Given the description of an element on the screen output the (x, y) to click on. 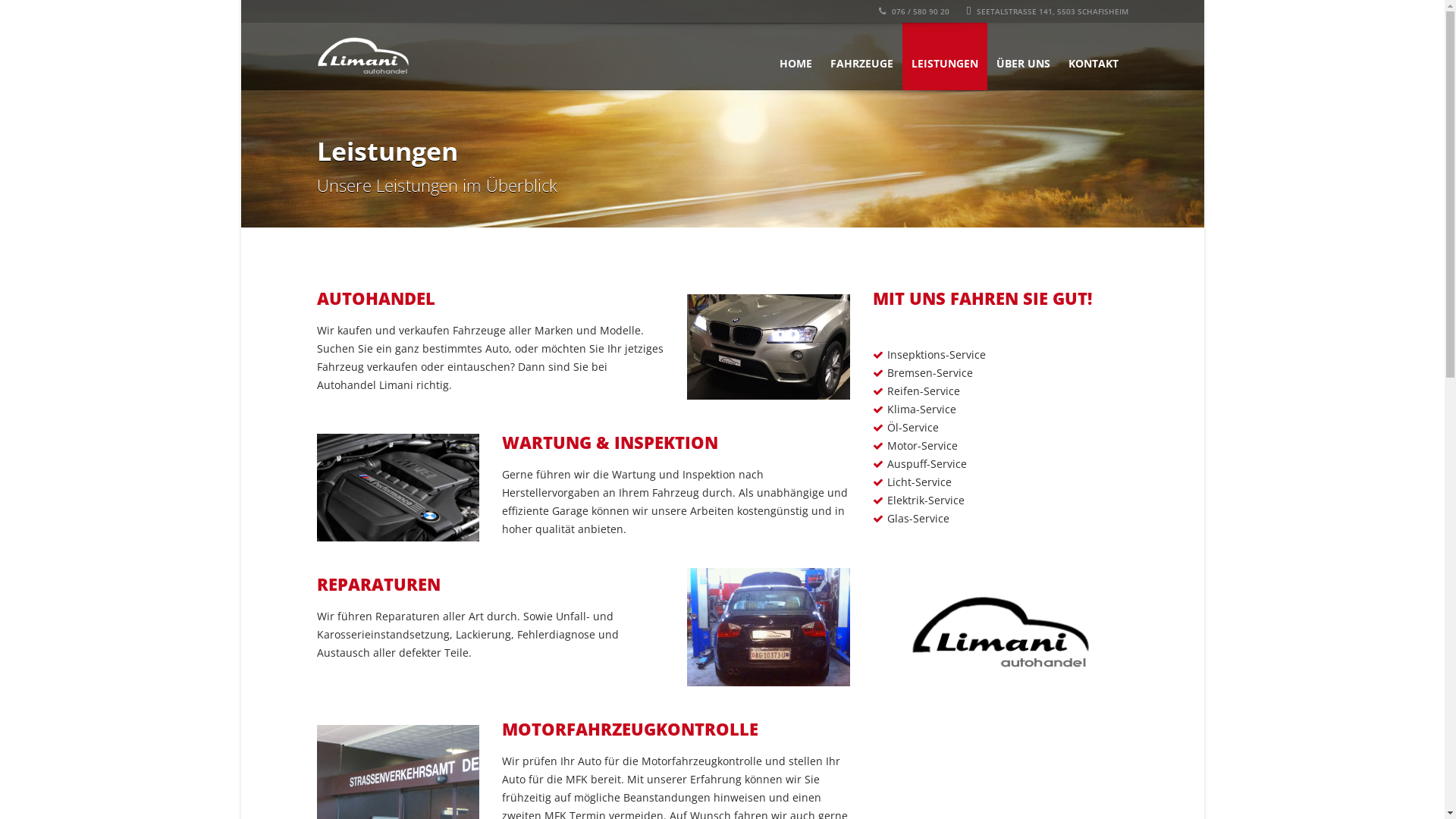
FAHRZEUGE Element type: text (860, 56)
garage_lift2 Element type: hover (768, 626)
bmw_front2 Element type: hover (768, 346)
SEETALSTRASSE 141, 5503 SCHAFISHEIM Element type: text (1047, 11)
Kontaktieren Sie uns unverbindlich! Element type: text (991, 757)
076 / 580 90 20 Element type: text (913, 11)
favicon_orig Element type: hover (1000, 627)
Kontaktieren Sie uns unverbindlich! Element type: text (991, 756)
bmw_engine Element type: hover (397, 487)
HOME Element type: text (795, 56)
KONTAKT Element type: text (1092, 56)
LEISTUNGEN Element type: text (944, 56)
